Given the description of an element on the screen output the (x, y) to click on. 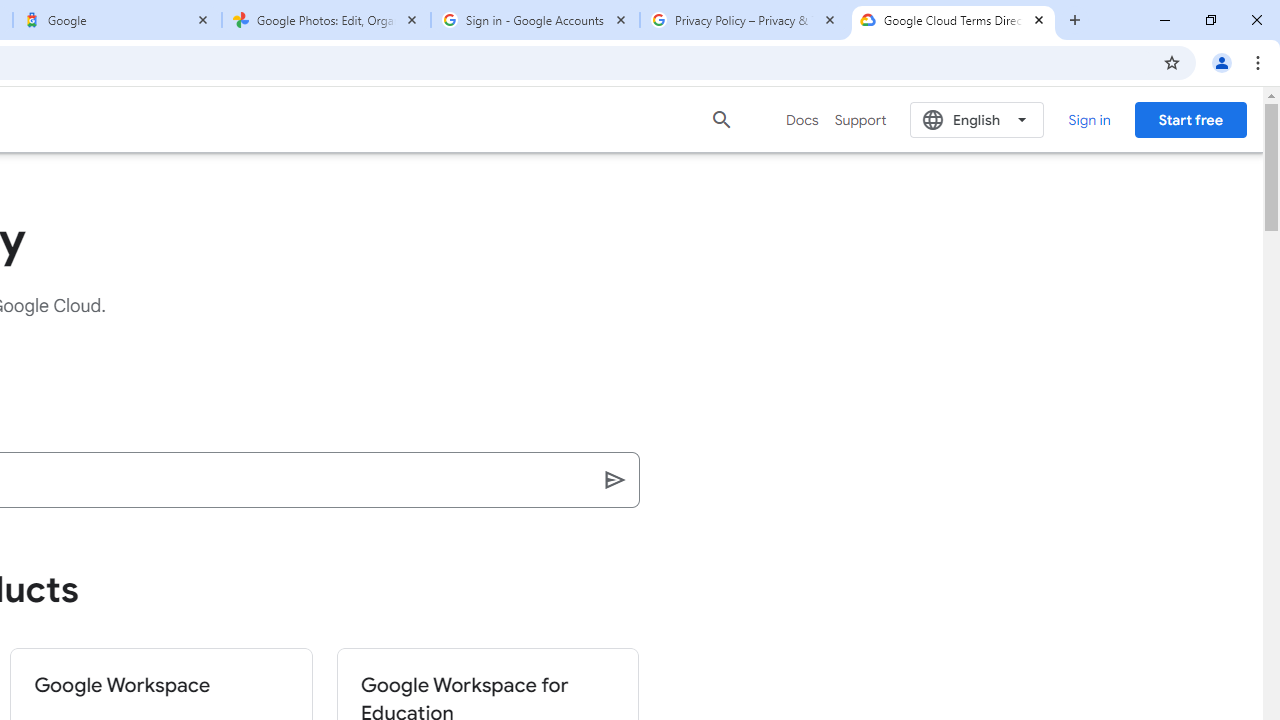
Sign in - Google Accounts (535, 20)
Google Cloud Terms Directory | Google Cloud (953, 20)
Docs (802, 119)
Google (116, 20)
Start free (1190, 119)
